Given the description of an element on the screen output the (x, y) to click on. 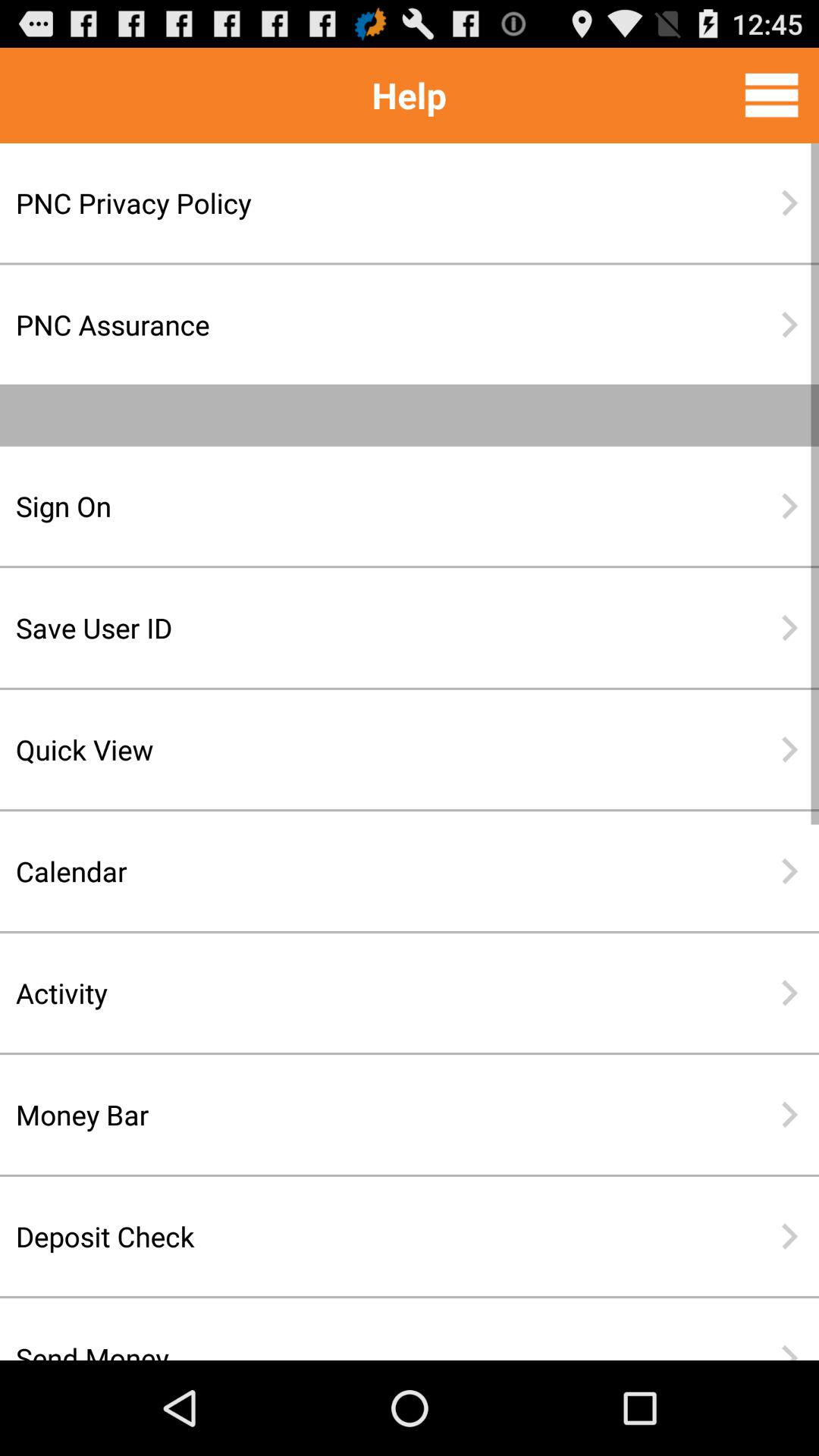
open the item next to activity icon (789, 992)
